Given the description of an element on the screen output the (x, y) to click on. 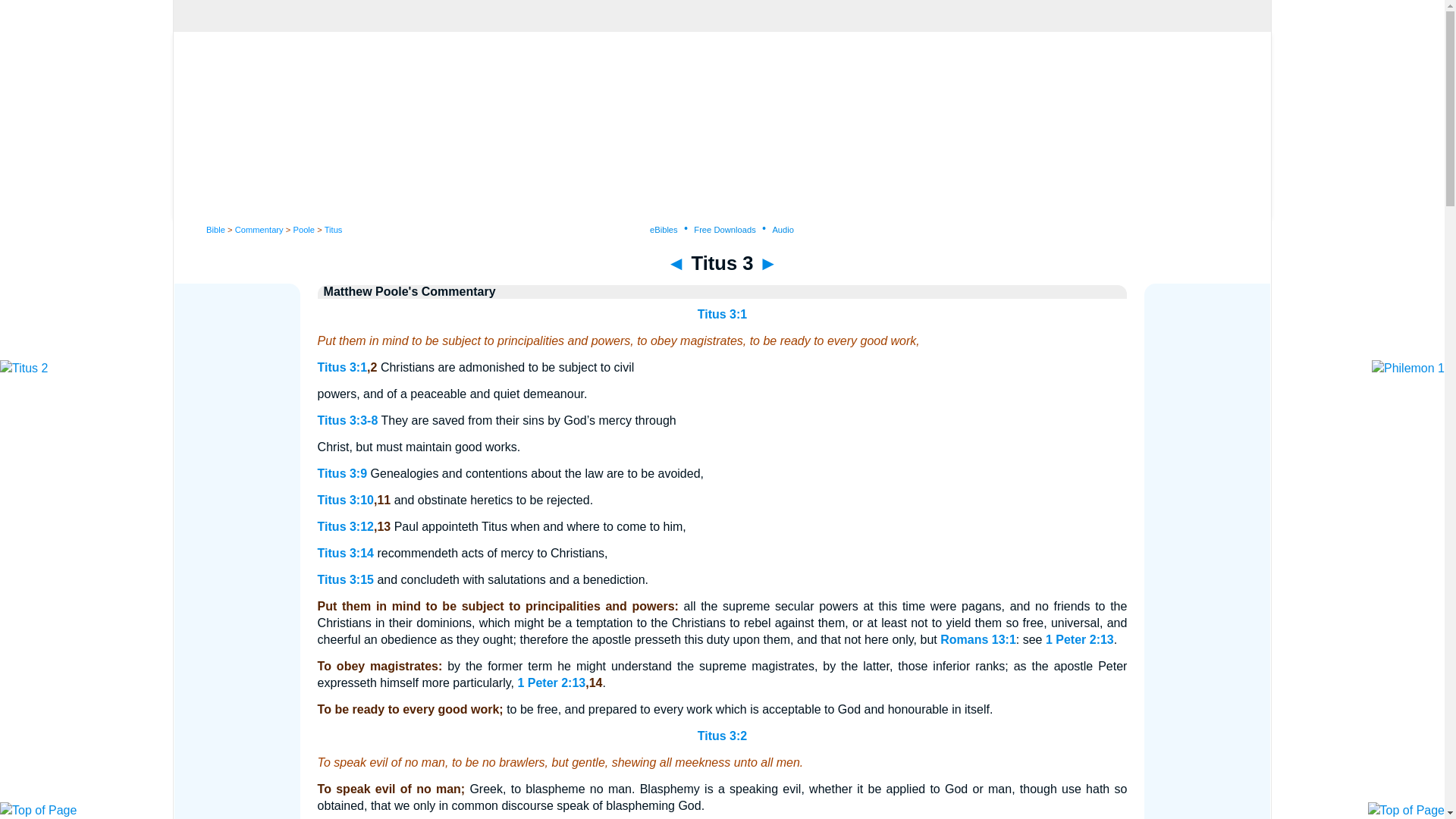
1 Peter 2:13 (550, 682)
Titus 3:2 (722, 735)
Philemon 1 (767, 262)
Titus 3:3-8 (347, 420)
Titus 3:14 (345, 553)
Titus 2 (675, 262)
Titus 3:1 (342, 367)
Titus 3:9 (342, 472)
Romans 13:1 (978, 639)
1 Peter 2:13 (1079, 639)
